Given the description of an element on the screen output the (x, y) to click on. 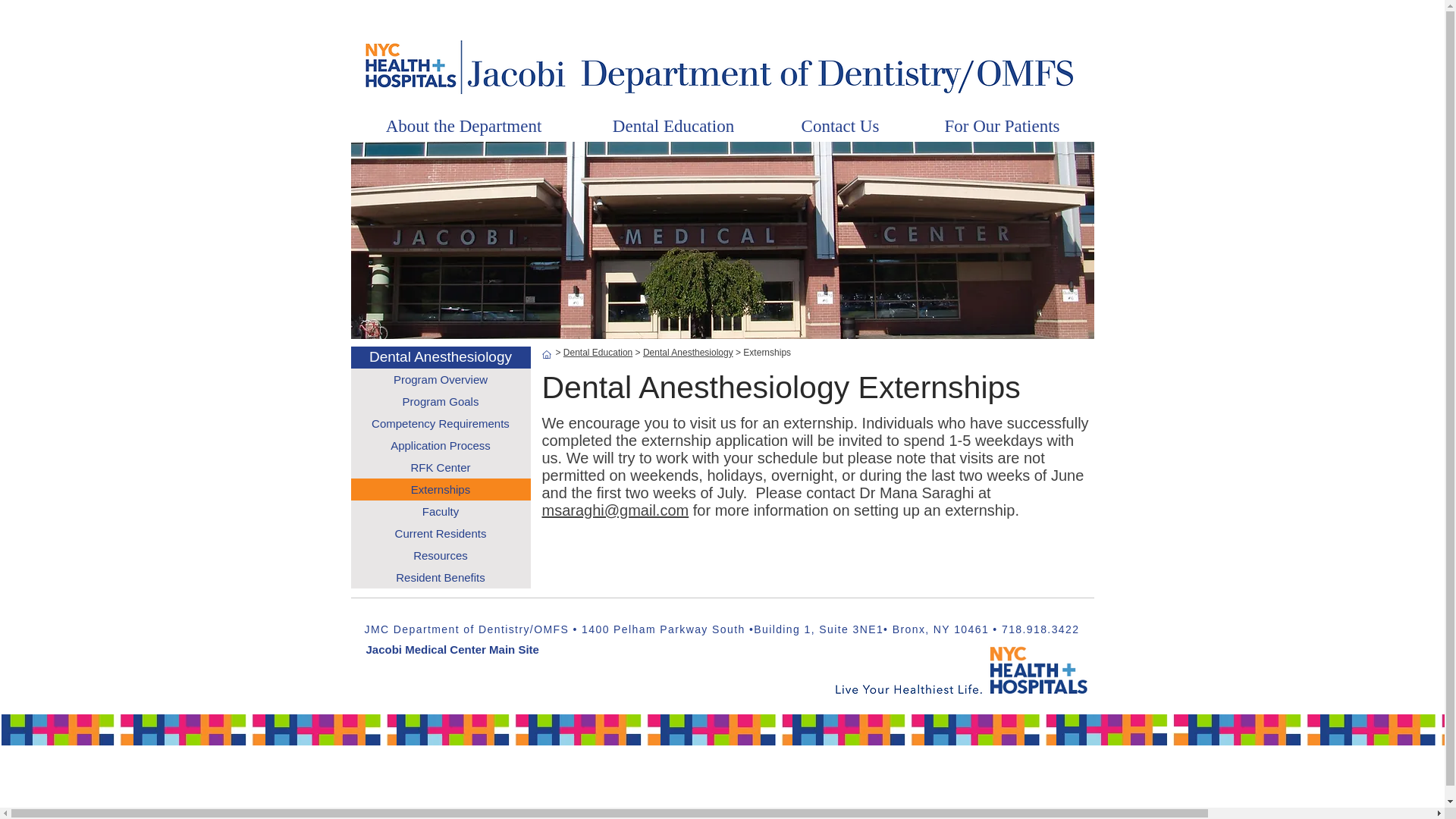
Current Residents (439, 533)
RFK Center (439, 467)
Contact Us (840, 125)
Resident Benefits (439, 577)
About the Department (463, 125)
Application Process (439, 445)
Competency Requirements (439, 423)
Resources (439, 555)
Program Goals (439, 401)
Jacobi Medical Center Main Site (451, 649)
Dental Anesthesiology (440, 356)
Dental Education (597, 352)
Faculty (439, 511)
For Our Patients (1001, 125)
Program Overview (439, 379)
